Given the description of an element on the screen output the (x, y) to click on. 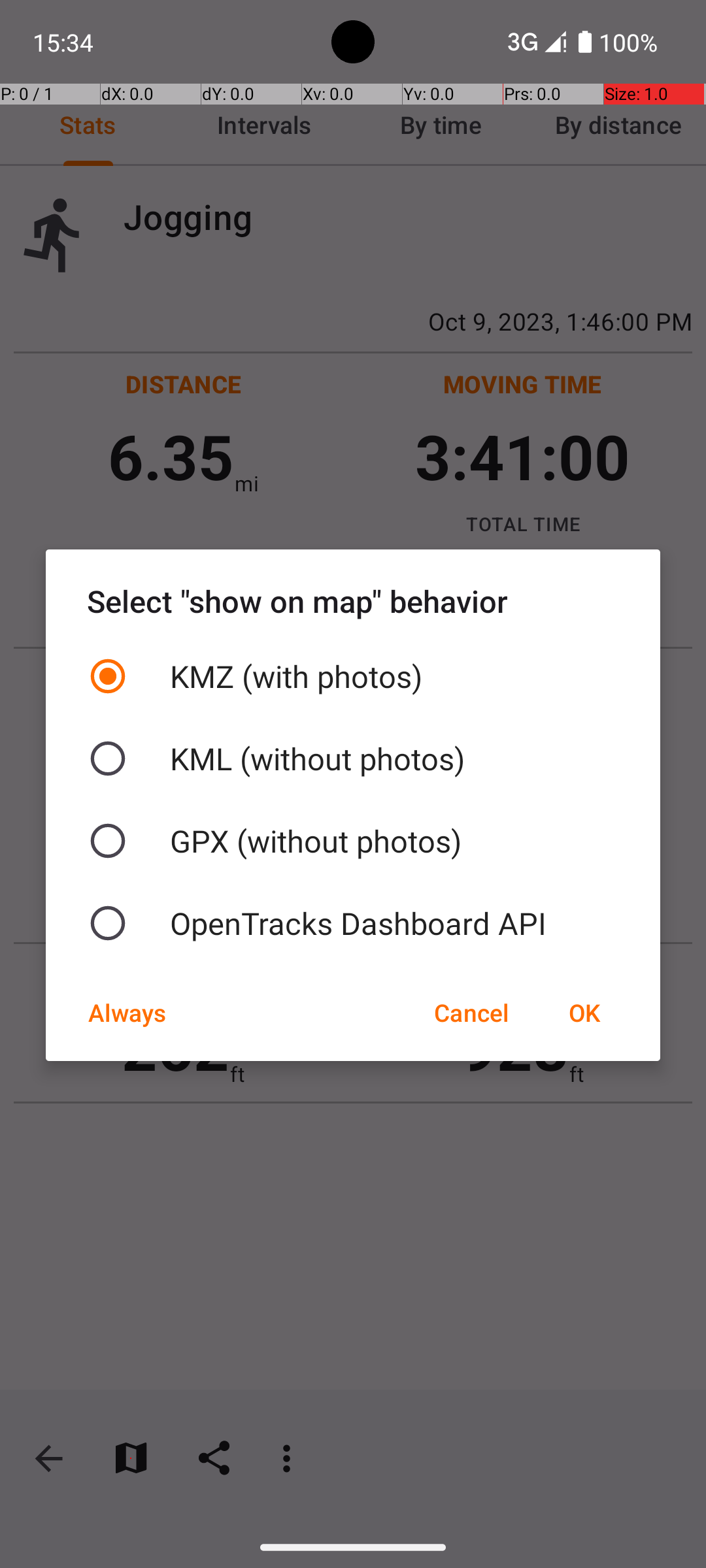
Select "show on map" behavior Element type: android.widget.TextView (352, 600)
KMZ (with photos) Element type: android.widget.CheckedTextView (352, 676)
KML (without photos) Element type: android.widget.CheckedTextView (352, 758)
GPX (without photos) Element type: android.widget.CheckedTextView (352, 840)
OpenTracks Dashboard API Element type: android.widget.CheckedTextView (352, 923)
